Given the description of an element on the screen output the (x, y) to click on. 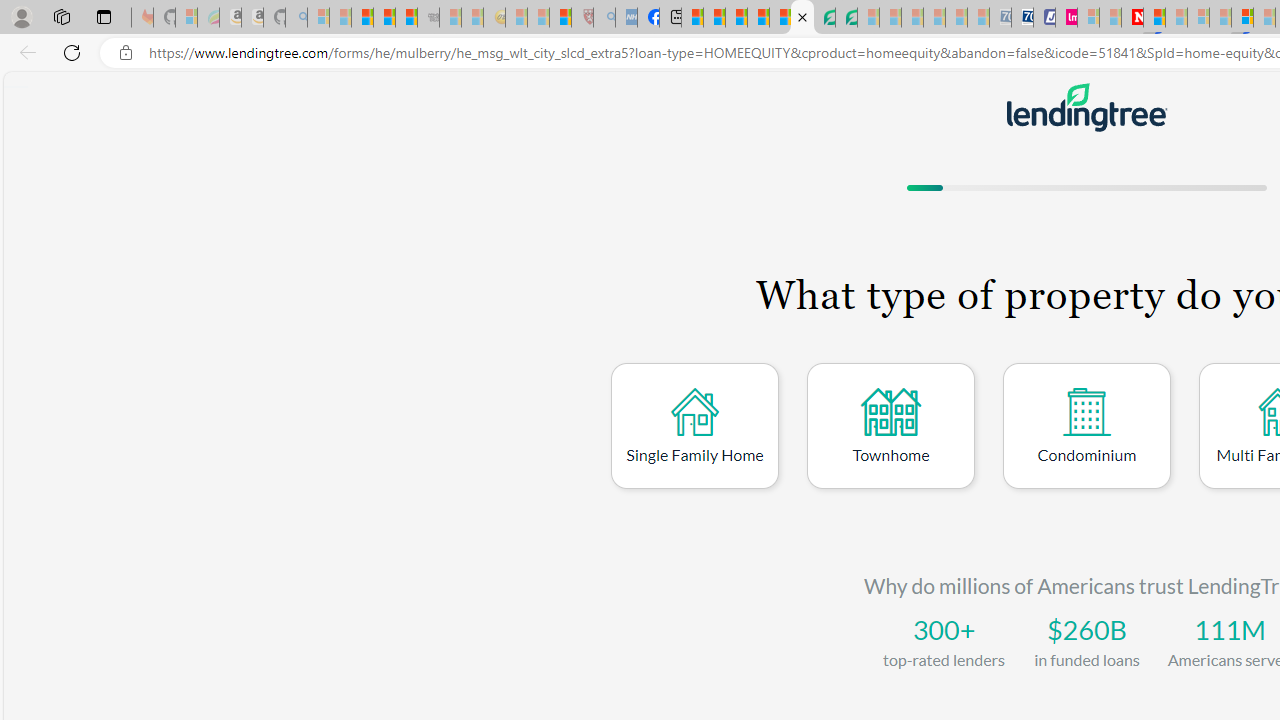
New Report Confirms 2023 Was Record Hot | Watch (406, 17)
Microsoft Word - consumer-privacy address update 2.2021 (846, 17)
